Given the description of an element on the screen output the (x, y) to click on. 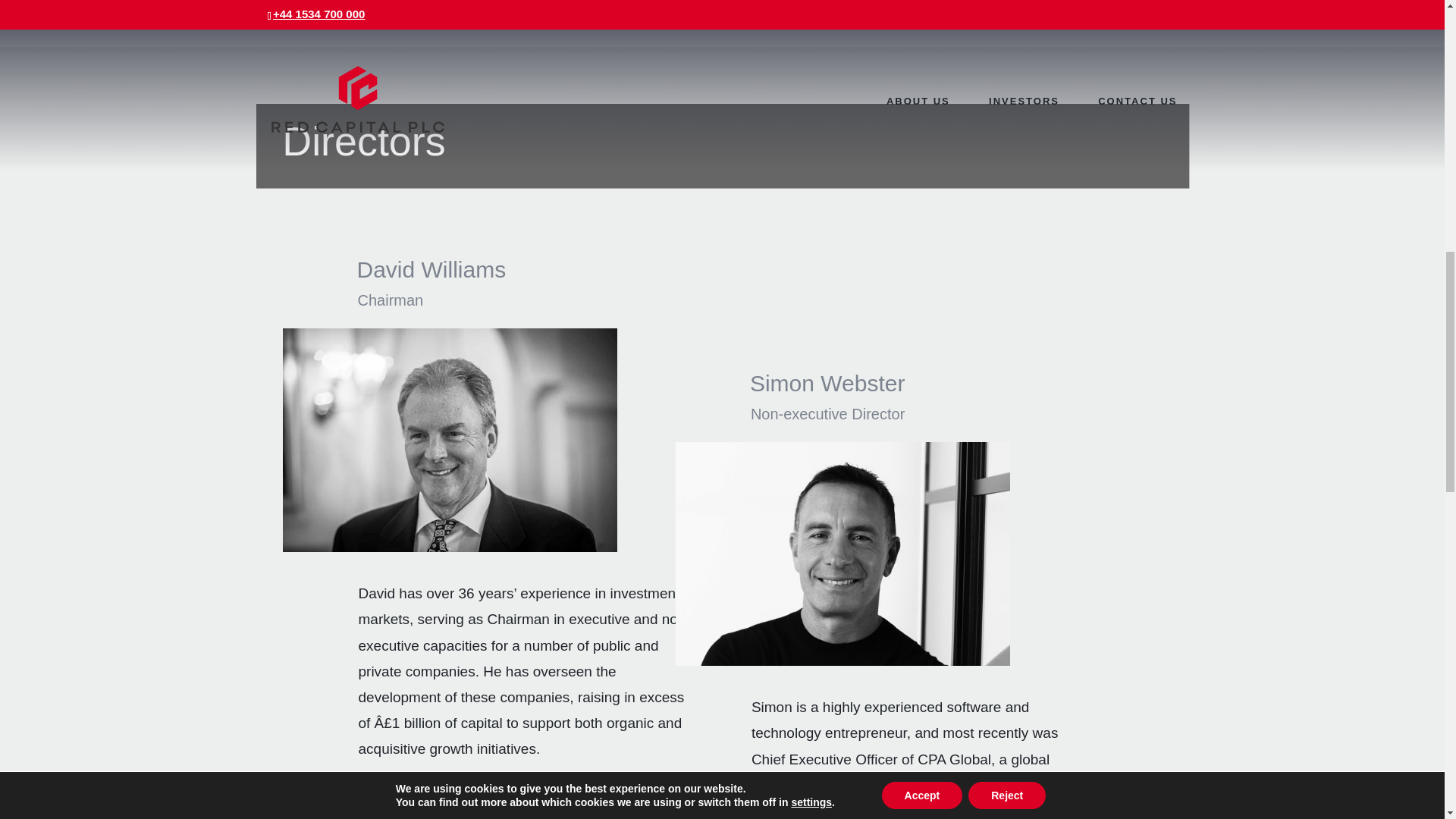
David Williams (449, 439)
simon-linley-webster-photo (842, 553)
